Given the description of an element on the screen output the (x, y) to click on. 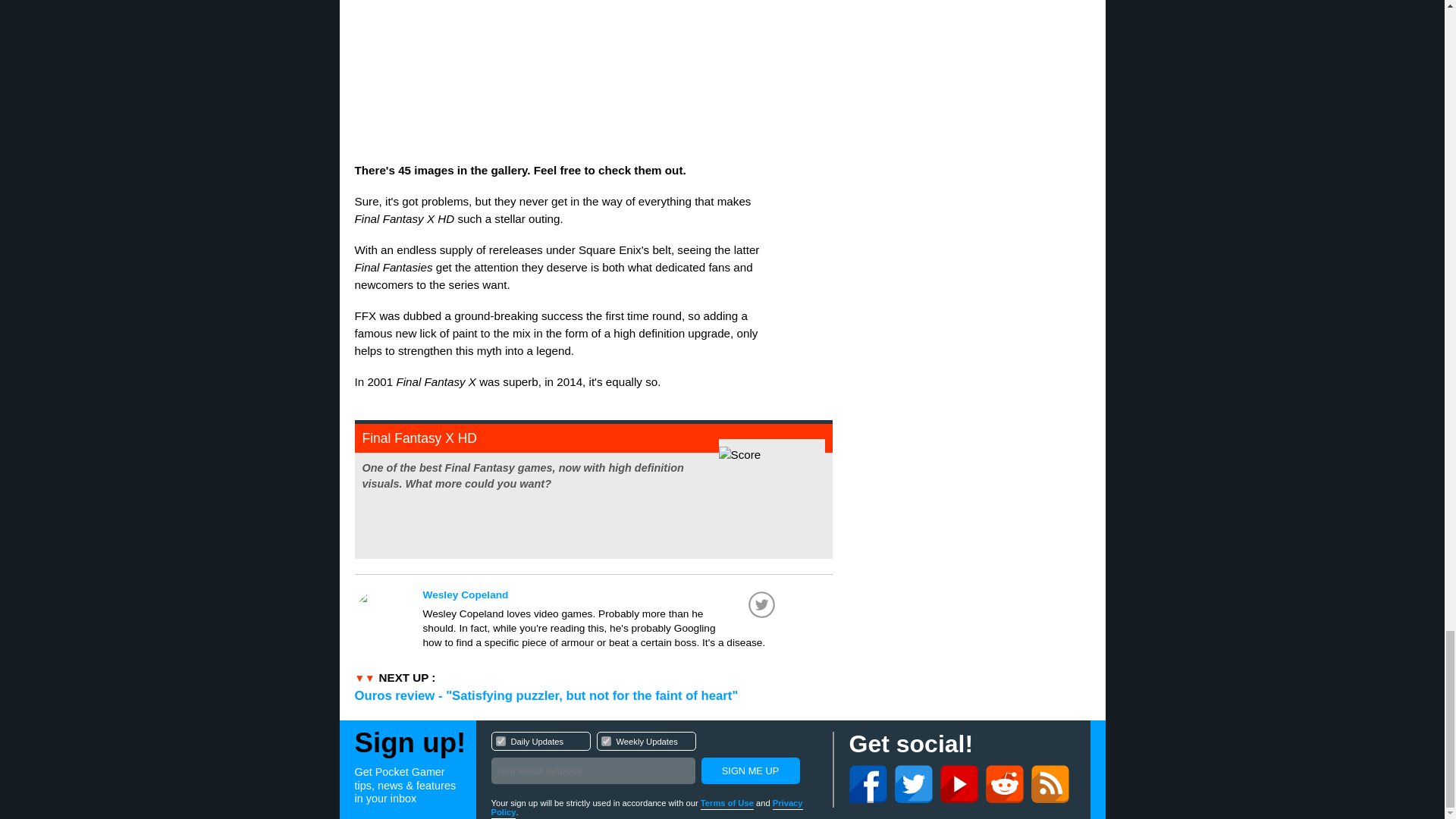
Sign Me Up (654, 759)
Wesley Copeland (749, 770)
2 (600, 594)
1 (604, 741)
Sign Me Up (500, 741)
